Given the description of an element on the screen output the (x, y) to click on. 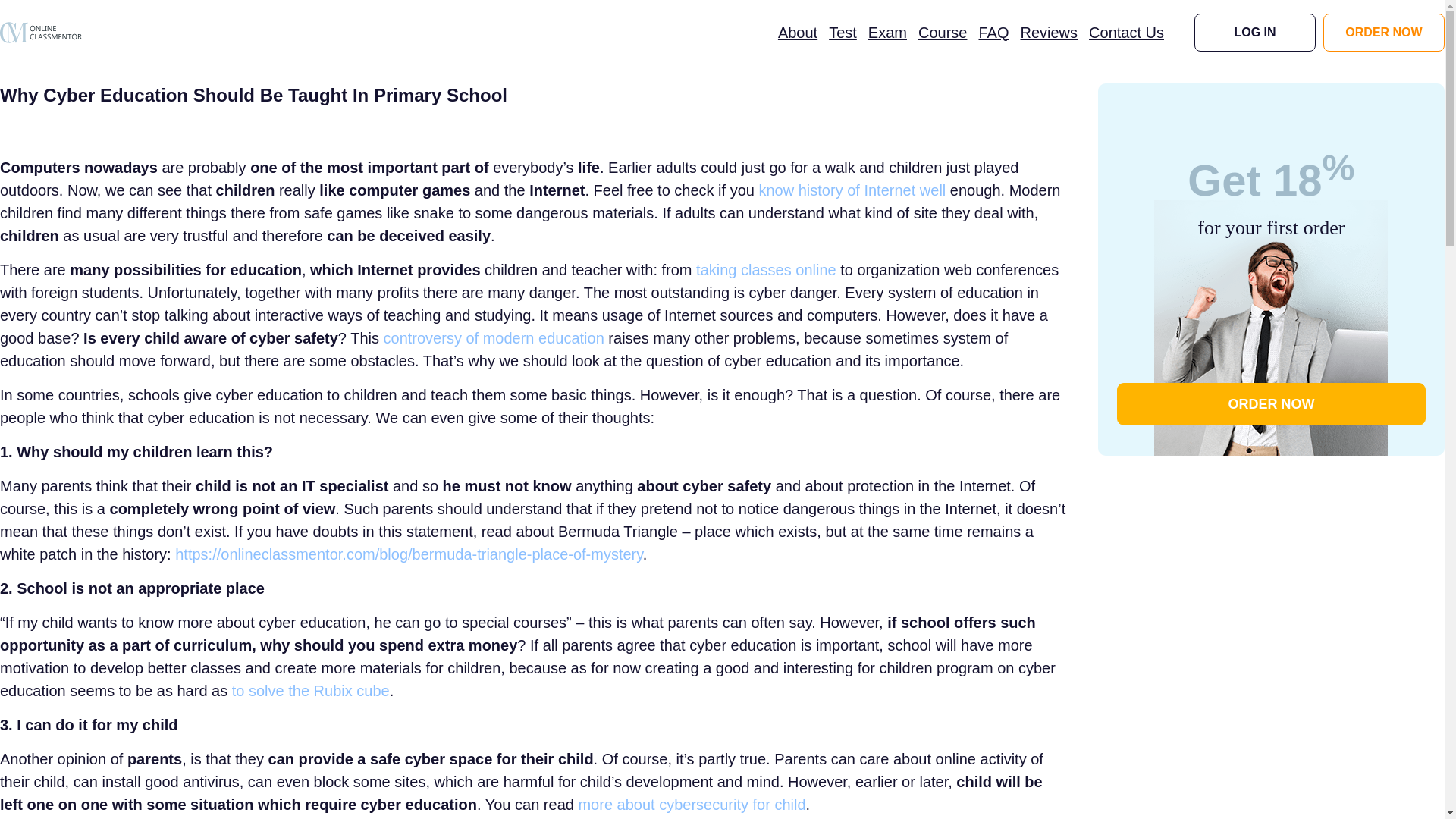
more about cybersecurity for child (691, 804)
Course (942, 32)
Reviews (1048, 32)
Exam (887, 32)
taking classes online (765, 269)
About (796, 32)
Onlineclassmentor.com (40, 31)
controversy of modern education (494, 338)
FAQ (993, 32)
know history of Internet well (851, 190)
